Given the description of an element on the screen output the (x, y) to click on. 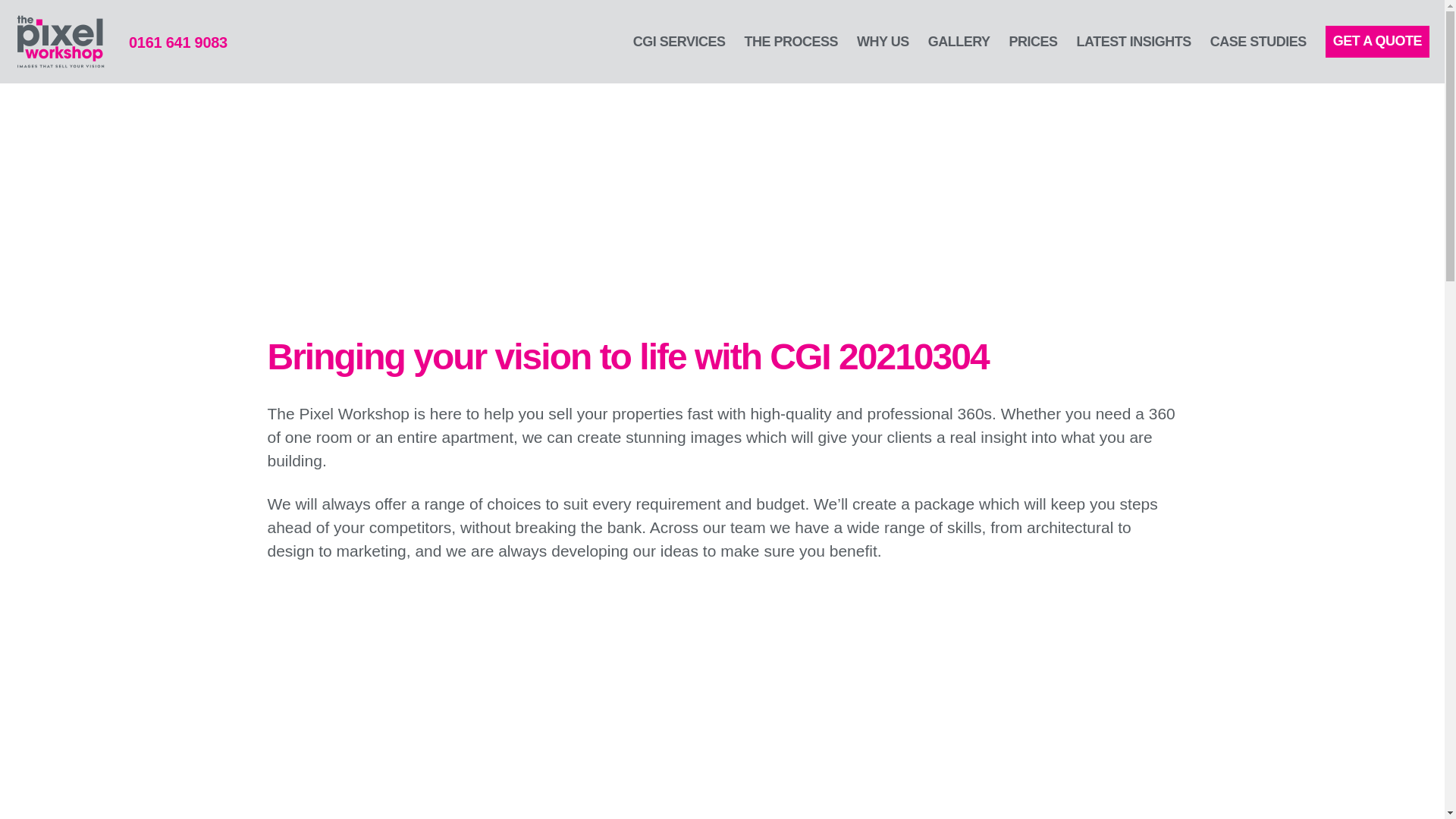
PRICES (1033, 42)
LATEST INSIGHTS (1134, 42)
GALLERY (959, 42)
THE PROCESS (791, 42)
WHY US (882, 42)
CGI SERVICES (679, 42)
SERVICES (306, 94)
GET A QUOTE (1376, 41)
0161 641 9083 (178, 37)
CASE STUDIES (1257, 42)
